Given the description of an element on the screen output the (x, y) to click on. 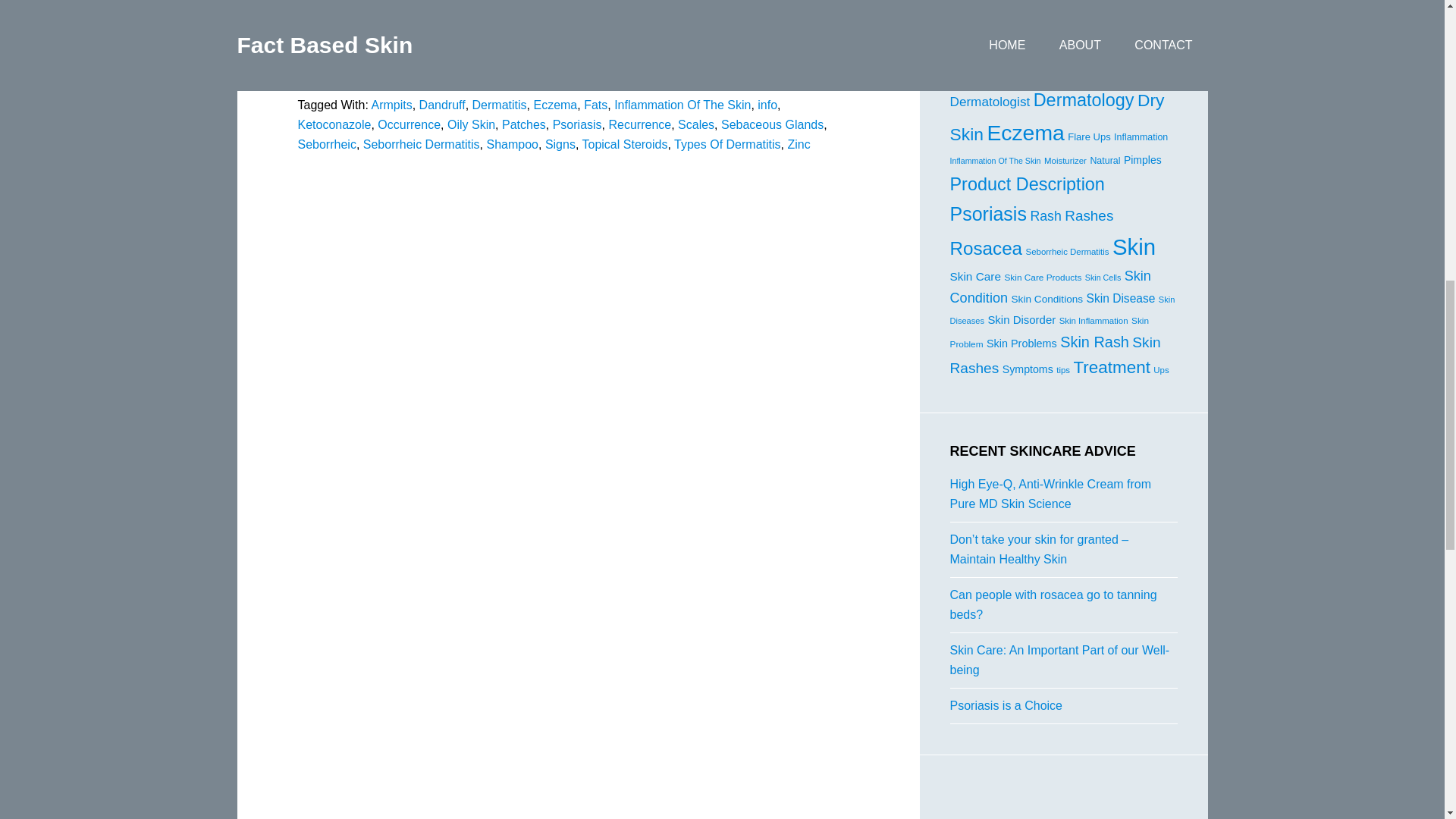
Psoriasis (577, 124)
Sebaceous Glands (772, 124)
Atopic Dermatitis (1121, 26)
Oily Skin (470, 124)
Causes (1082, 47)
Seborrheic (326, 144)
Topical Steroids (625, 144)
info (767, 104)
Fats (595, 104)
Shampoo (512, 144)
